Given the description of an element on the screen output the (x, y) to click on. 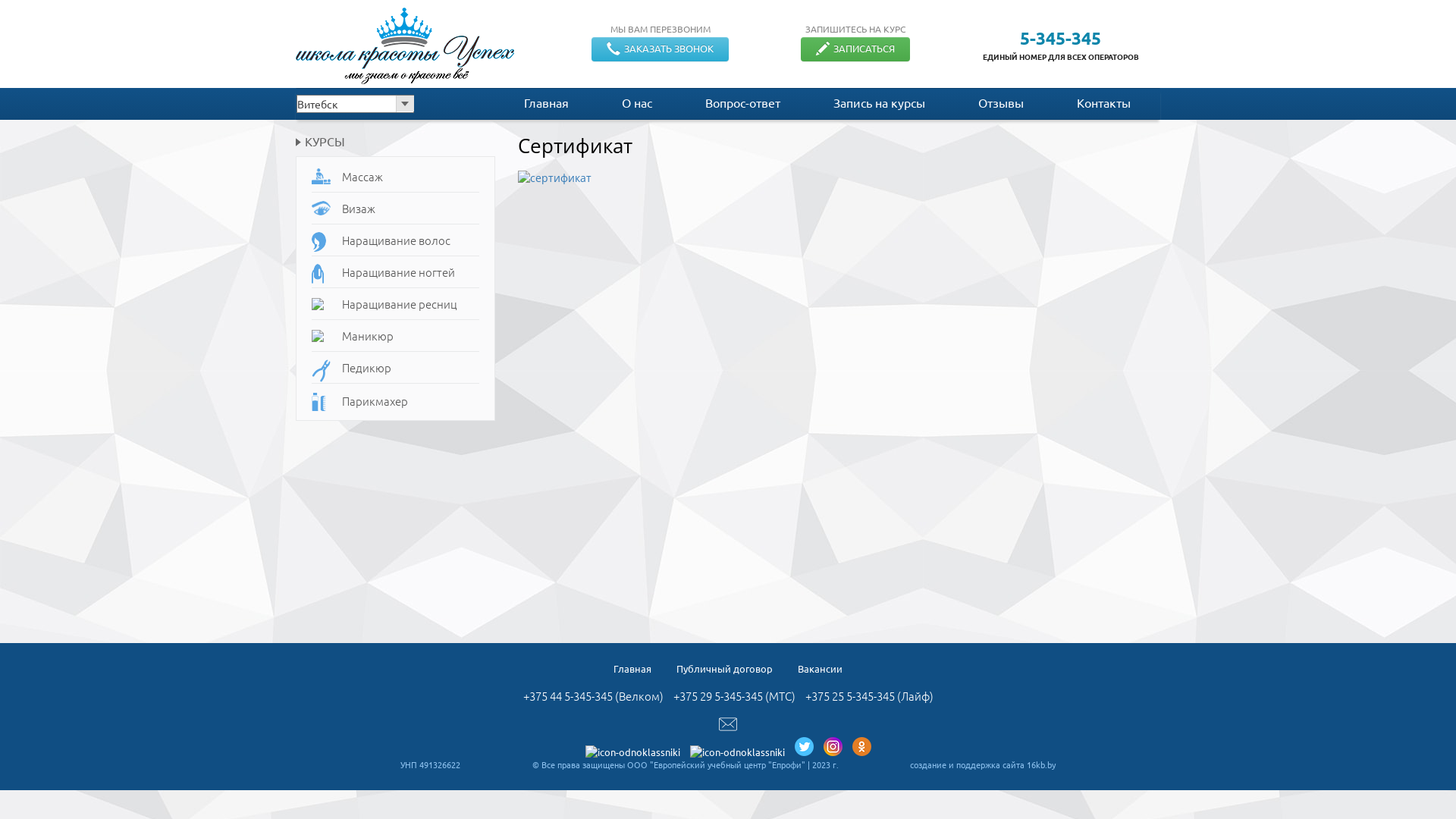
5-345-345 Element type: text (1060, 38)
